Given the description of an element on the screen output the (x, y) to click on. 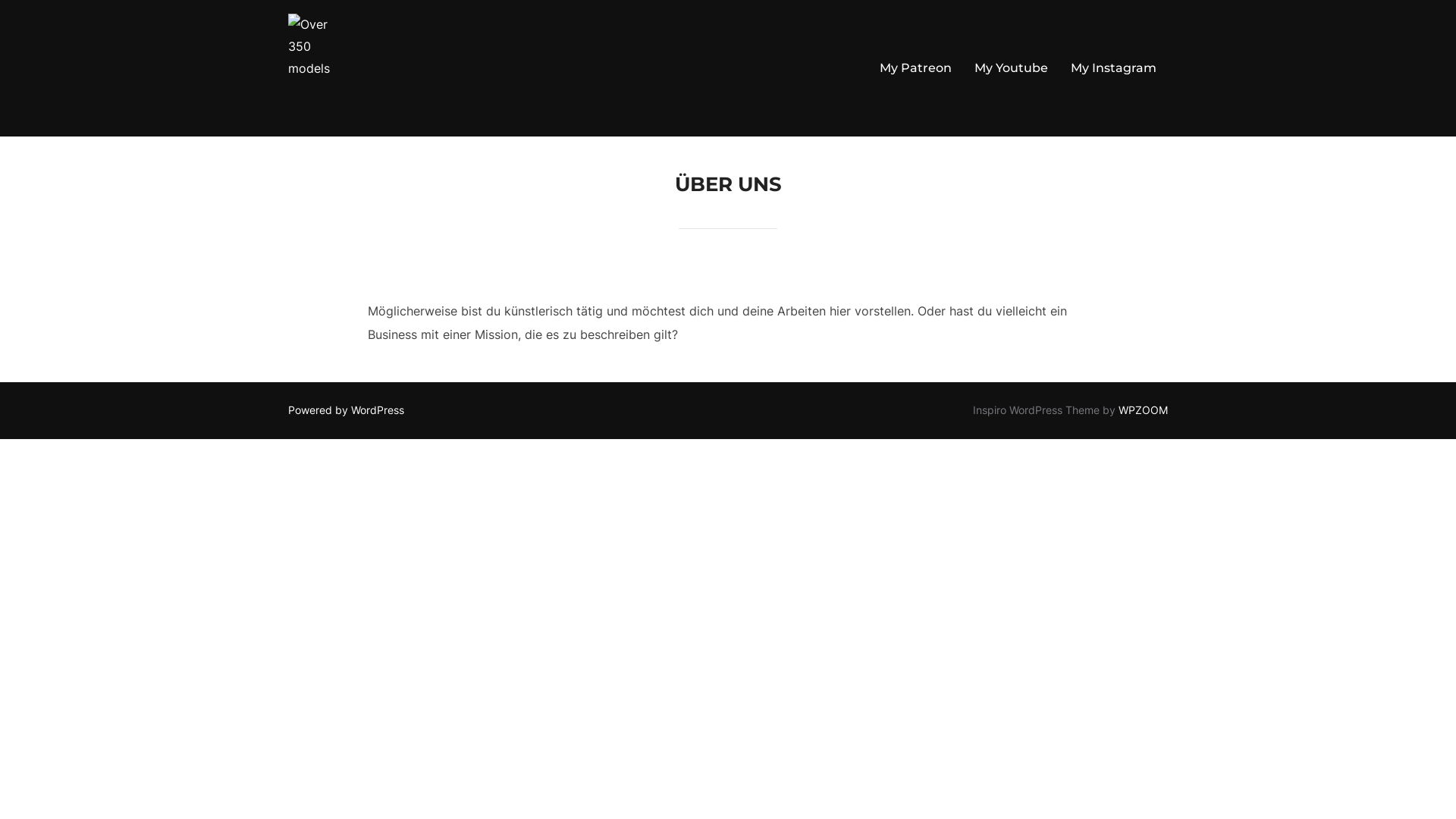
My Instagram Element type: text (1113, 67)
My Youtube Element type: text (1011, 67)
Skip to content Element type: text (0, 0)
Powered by WordPress Element type: text (346, 409)
WPZOOM Element type: text (1142, 409)
My Patreon Element type: text (915, 67)
